Given the description of an element on the screen output the (x, y) to click on. 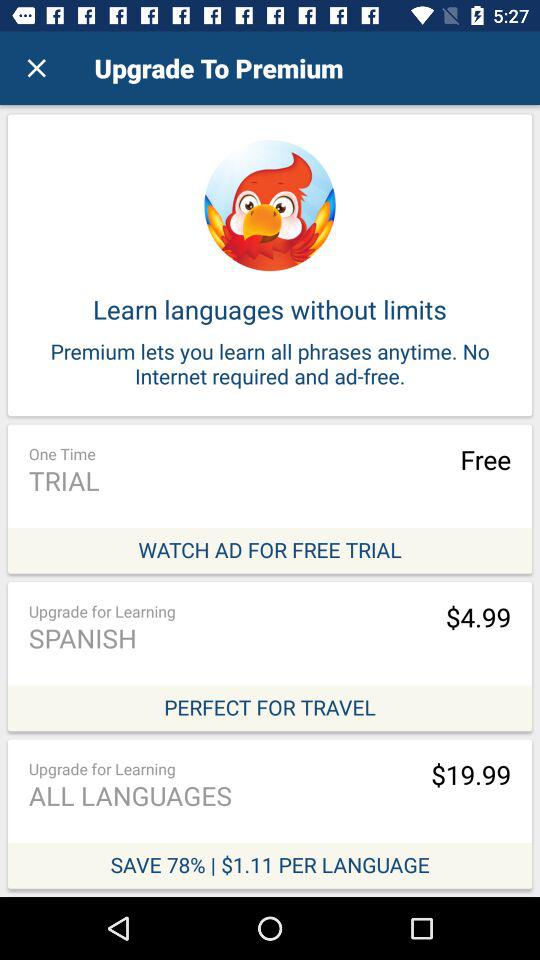
tap item above the learn languages without item (36, 68)
